Given the description of an element on the screen output the (x, y) to click on. 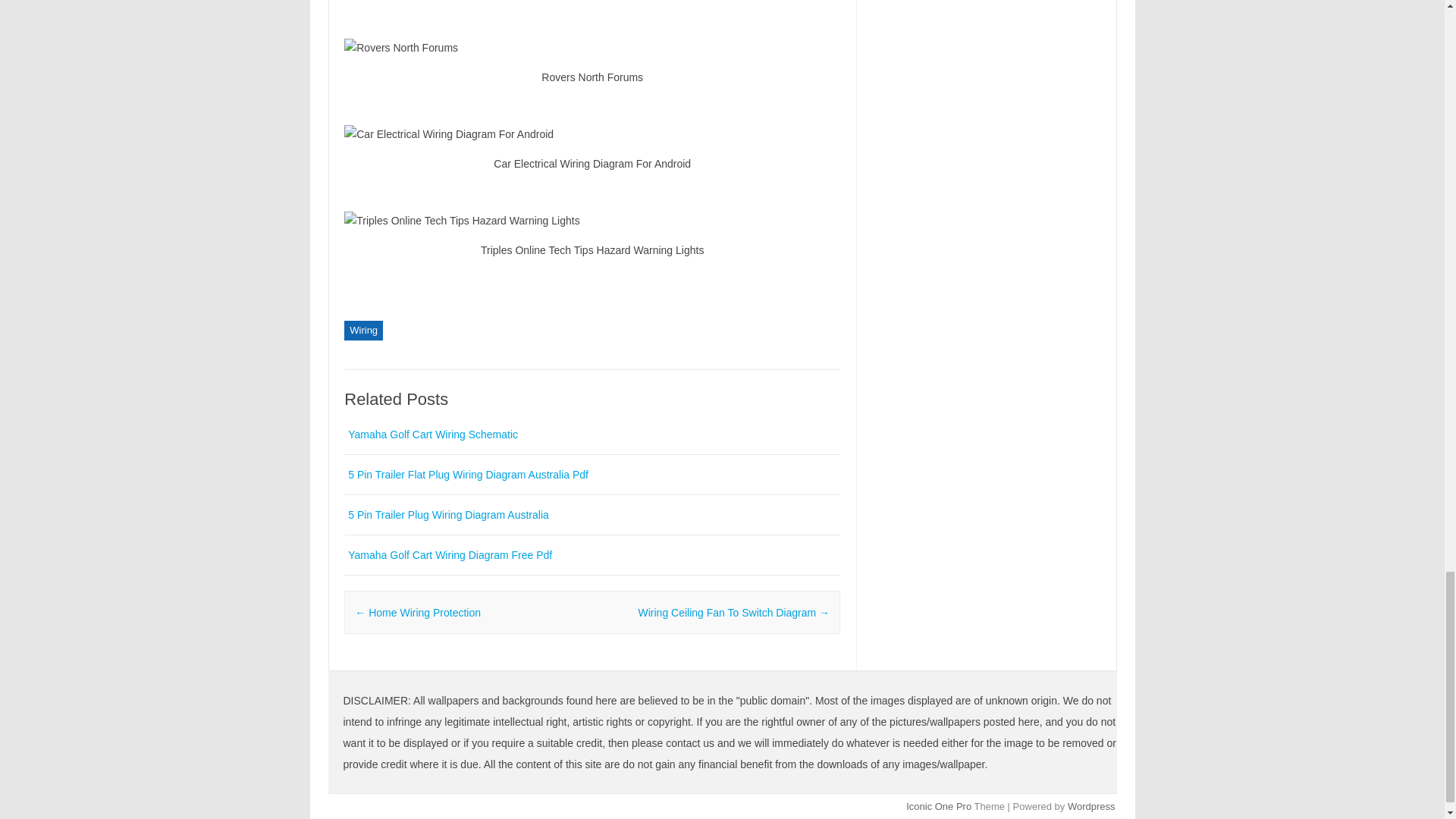
5 Pin Trailer Flat Plug Wiring Diagram Australia Pdf (467, 474)
Wiring (362, 330)
Yamaha Golf Cart Wiring Schematic (432, 434)
5 Pin Trailer Plug Wiring Diagram Australia (447, 514)
Yamaha Golf Cart Wiring Diagram Free Pdf (449, 554)
